Given the description of an element on the screen output the (x, y) to click on. 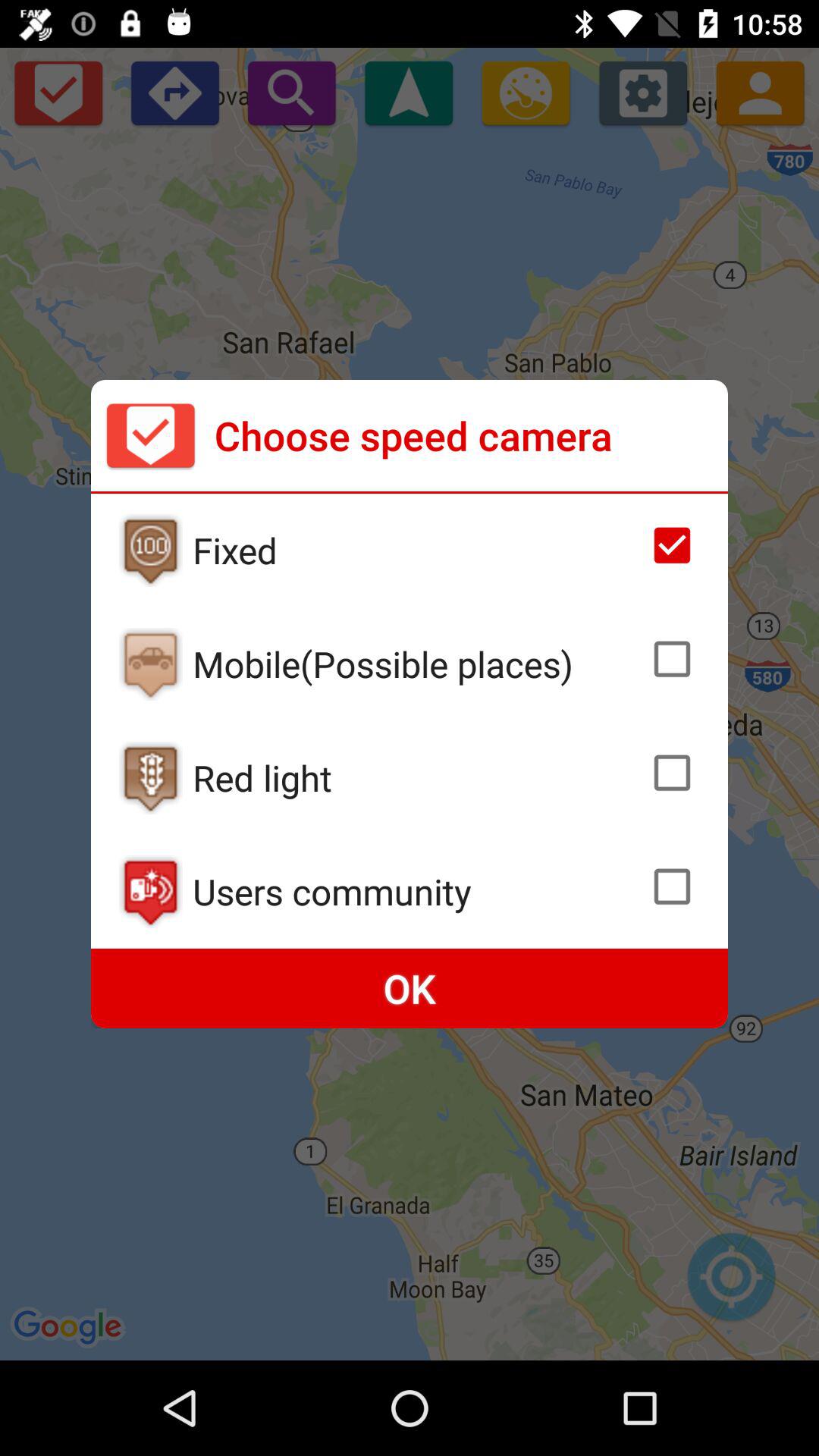
mobile app (150, 664)
